Given the description of an element on the screen output the (x, y) to click on. 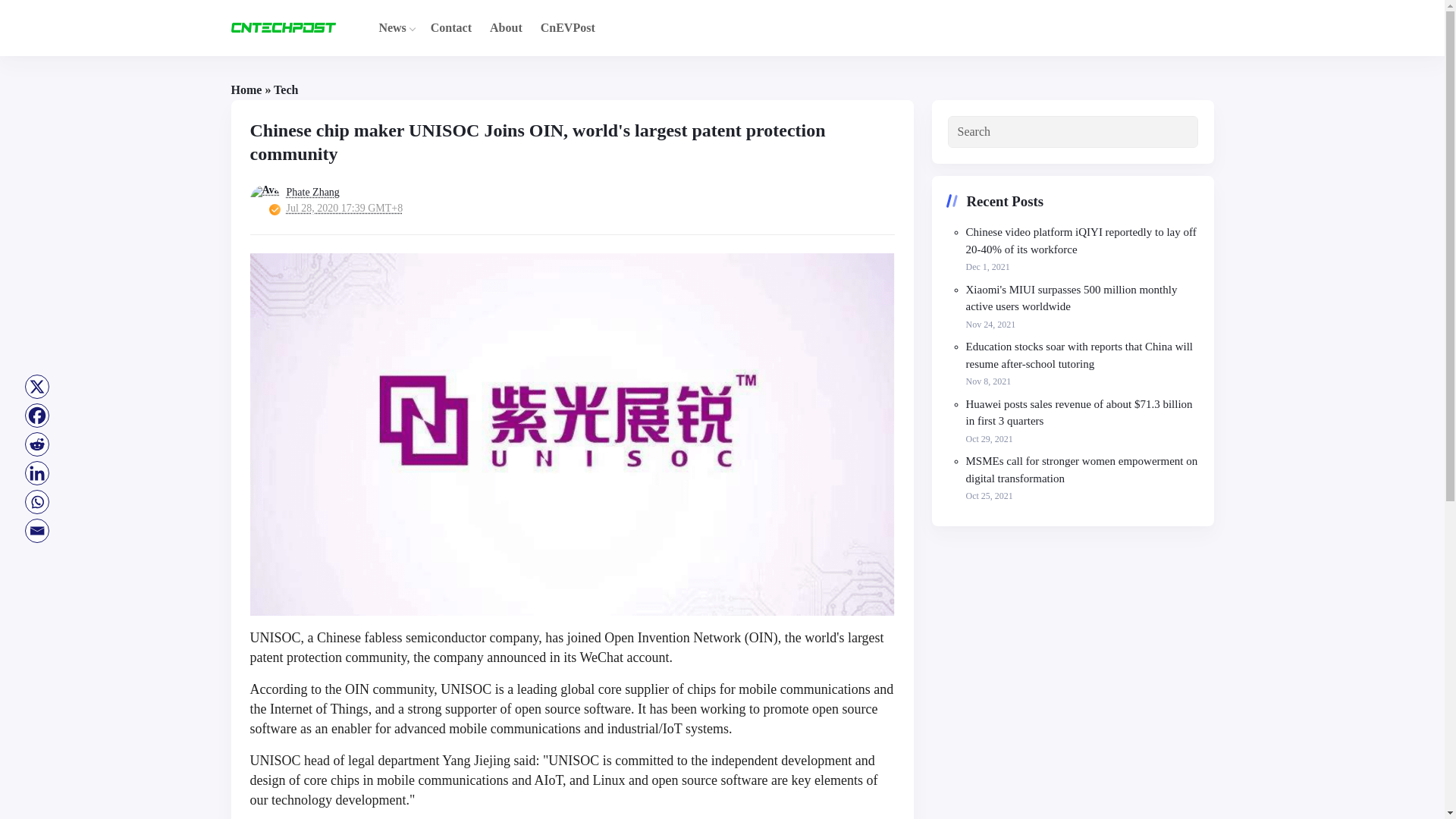
Facebook (36, 415)
Home (246, 89)
Whatsapp (36, 501)
CnEVPost (567, 27)
Contact (451, 27)
X (36, 386)
Email (36, 530)
Tech (285, 89)
Linkedin (36, 472)
Reddit (36, 443)
